Given the description of an element on the screen output the (x, y) to click on. 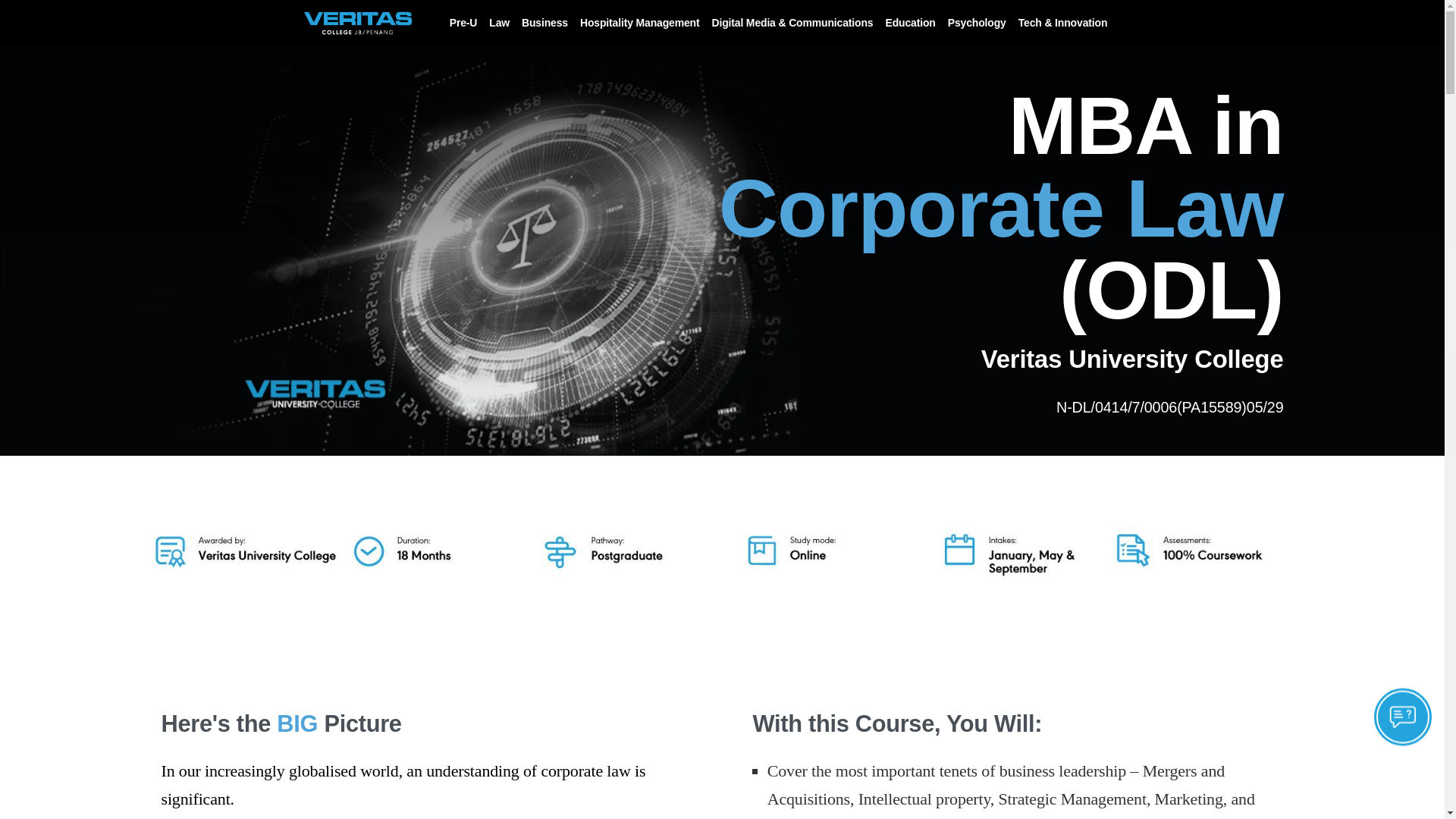
Business (544, 22)
Law (499, 22)
Education (909, 22)
Psychology (976, 22)
Pre-U (463, 22)
Law (499, 22)
Hospitality Management (639, 22)
Business (544, 22)
Hospitality Management (639, 22)
Education (909, 22)
Psychology (976, 22)
Pre-U (463, 22)
